Given the description of an element on the screen output the (x, y) to click on. 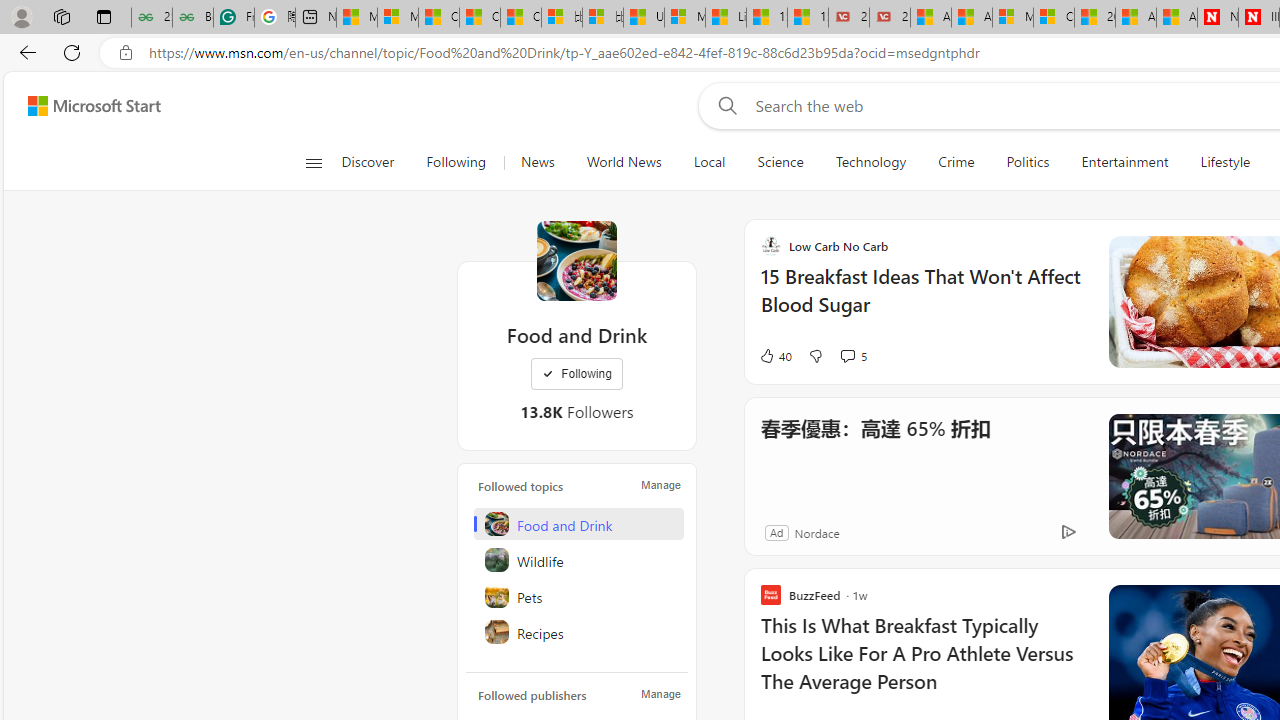
Food and Drink (576, 260)
View comments 5 Comment (847, 355)
USA TODAY - MSN (643, 17)
Recipes (578, 632)
21 Movies That Outdid the Books They Were Based On (890, 17)
